Given the description of an element on the screen output the (x, y) to click on. 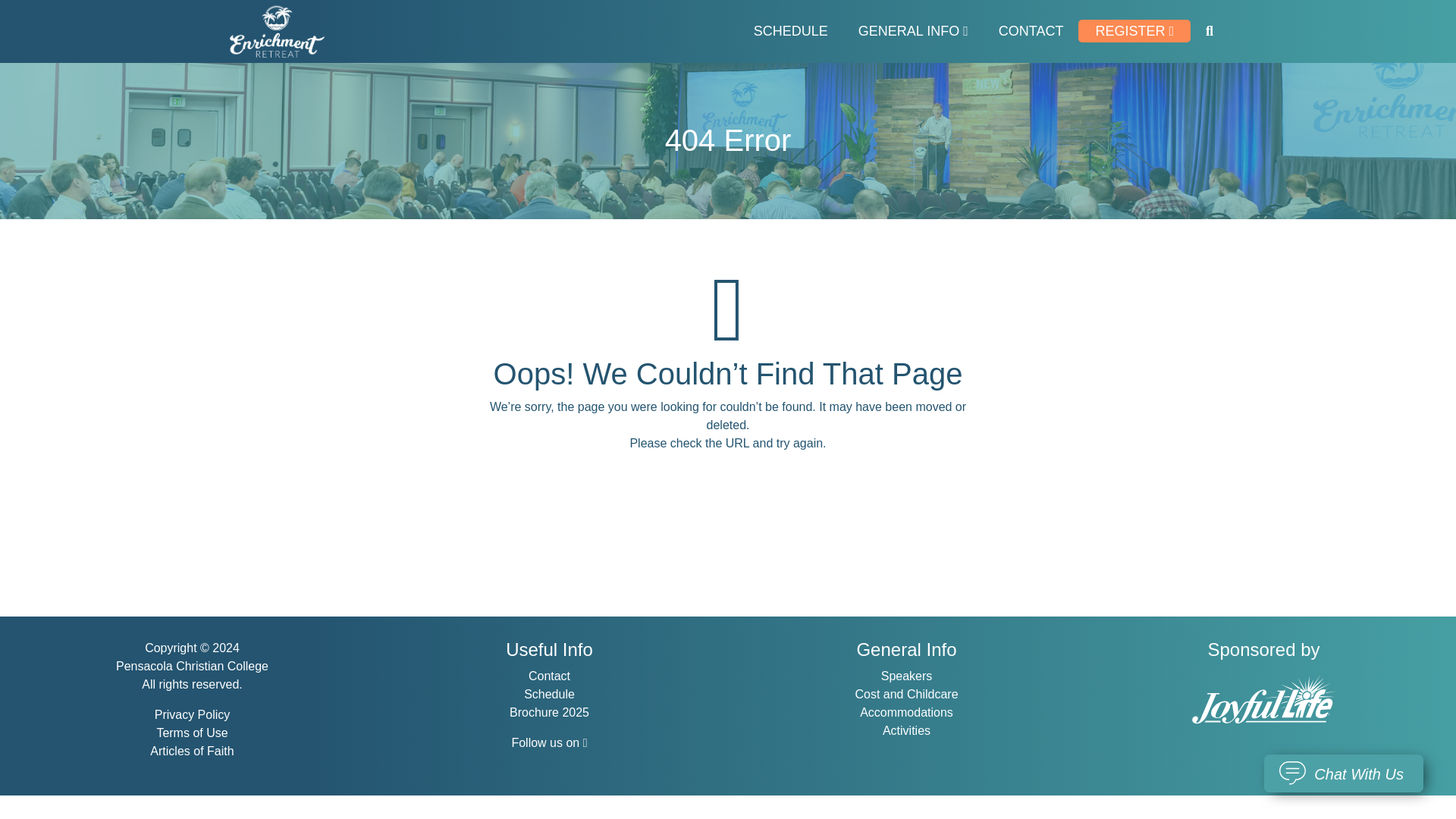
Accommodations (906, 712)
Privacy Policy (192, 714)
Speakers (906, 675)
Activities (906, 730)
Brochure 2025 (549, 712)
Terms of Use (191, 732)
Contact (549, 675)
SCHEDULE (790, 30)
  Chat With Us (1343, 773)
Schedule (549, 694)
Pensacola Christian College (191, 666)
CONTACT (1031, 30)
GENERAL INFO (913, 30)
Cost and Childcare (906, 694)
Follow us on (548, 742)
